Given the description of an element on the screen output the (x, y) to click on. 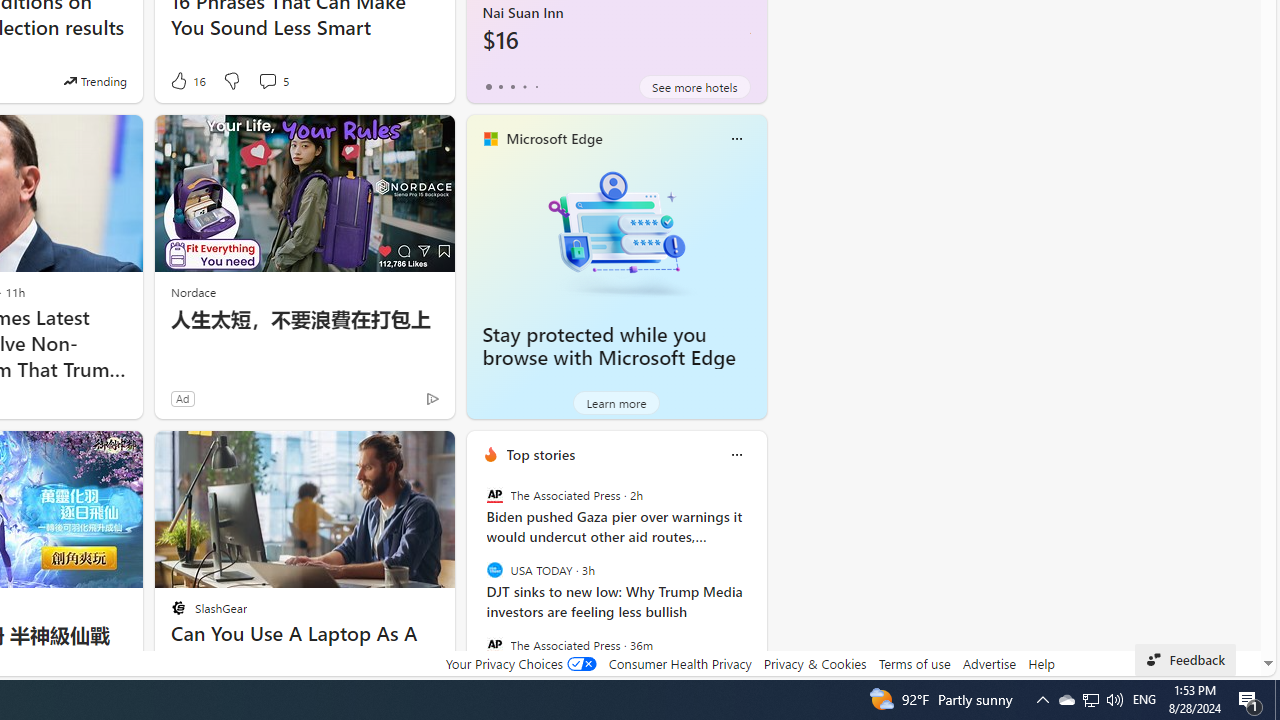
Your Privacy Choices (520, 663)
Terms of use (914, 663)
previous (476, 583)
Top stories (540, 454)
tab-0 (488, 86)
The Associated Press (494, 644)
See more hotels (694, 86)
tab-1 (500, 86)
Class: icon-img (736, 454)
Learn more (616, 402)
Consumer Health Privacy (680, 663)
tab-2 (511, 86)
Feedback (1185, 659)
